Given the description of an element on the screen output the (x, y) to click on. 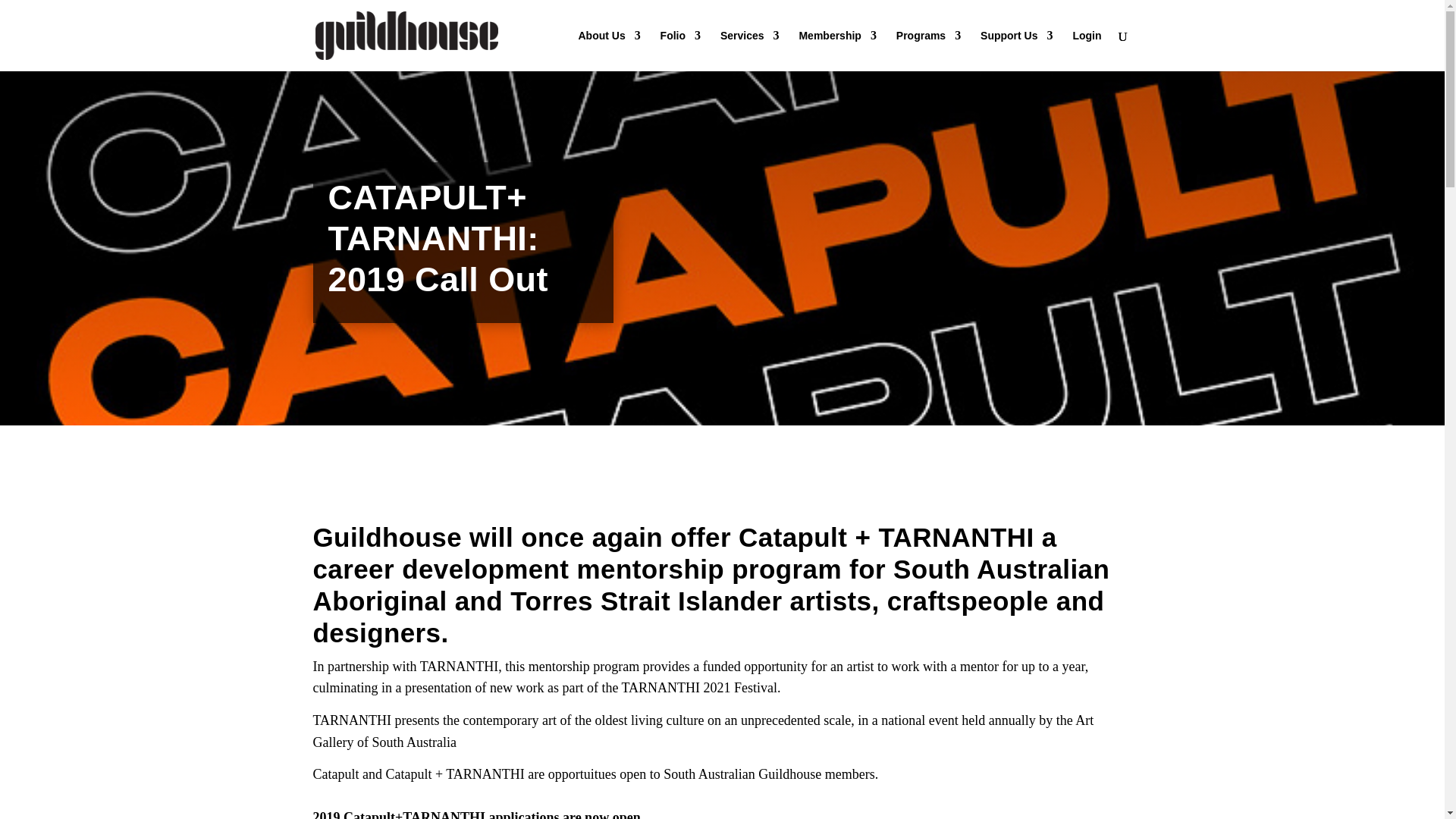
Support Us (1015, 50)
Folio (680, 50)
About Us (609, 50)
Services (749, 50)
Membership (836, 50)
Programs (928, 50)
